Given the description of an element on the screen output the (x, y) to click on. 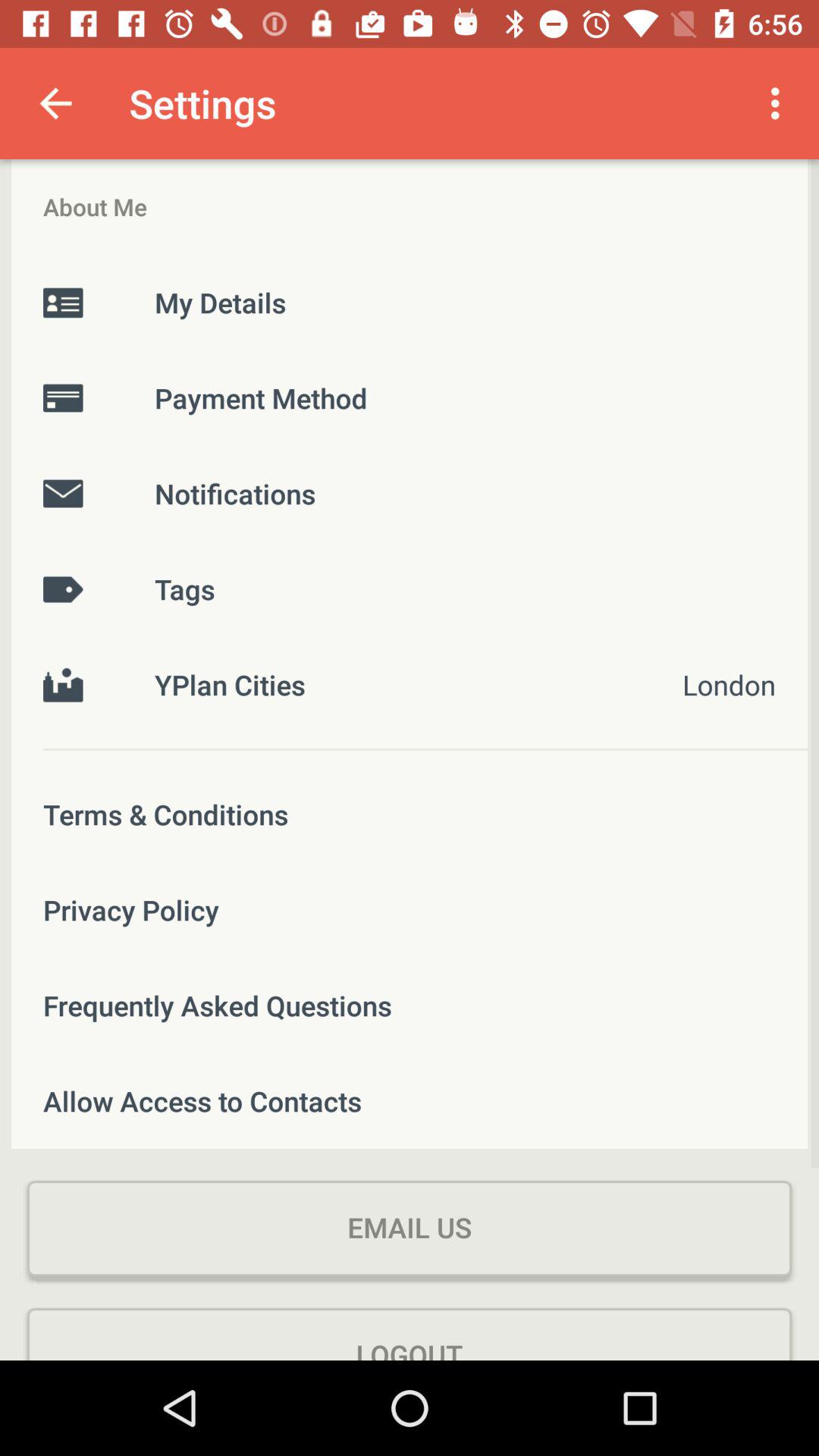
choose the app to the left of  settings (55, 103)
